Given the description of an element on the screen output the (x, y) to click on. 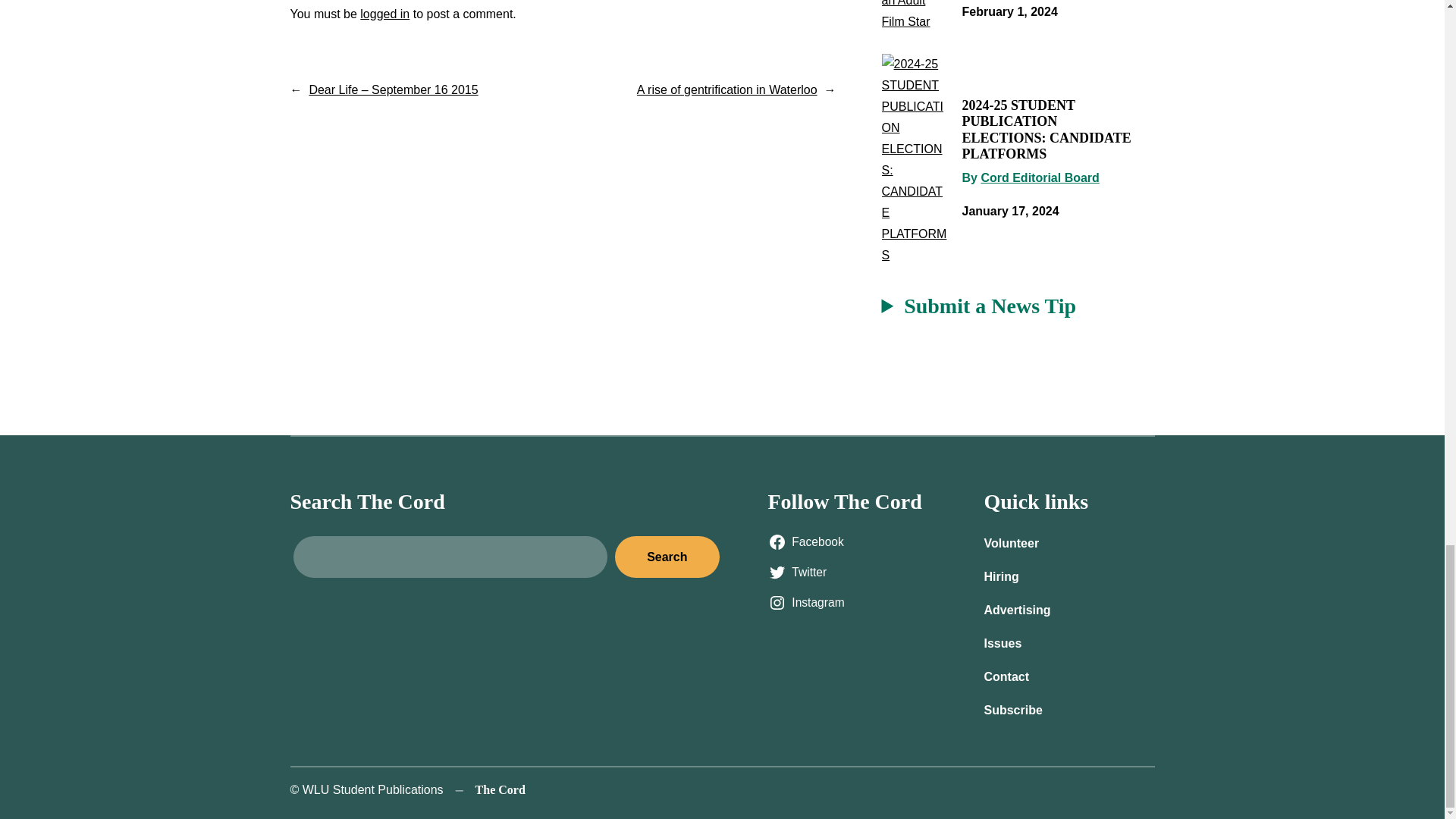
A rise of gentrification in Waterloo (726, 89)
logged in (384, 13)
Posts by Cord Editorial Board (1039, 177)
